Given the description of an element on the screen output the (x, y) to click on. 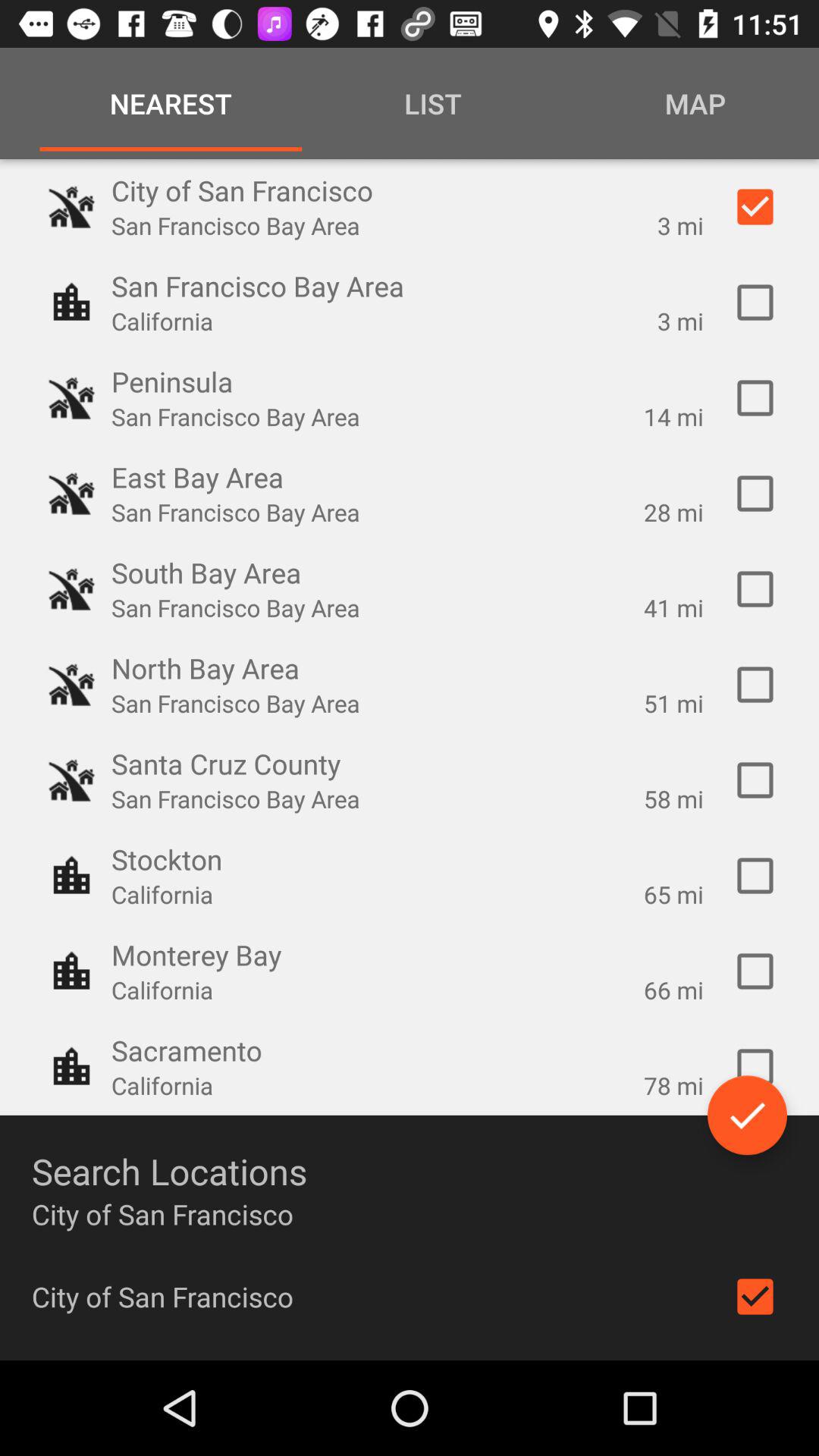
launch the item above city of san (747, 1115)
